Given the description of an element on the screen output the (x, y) to click on. 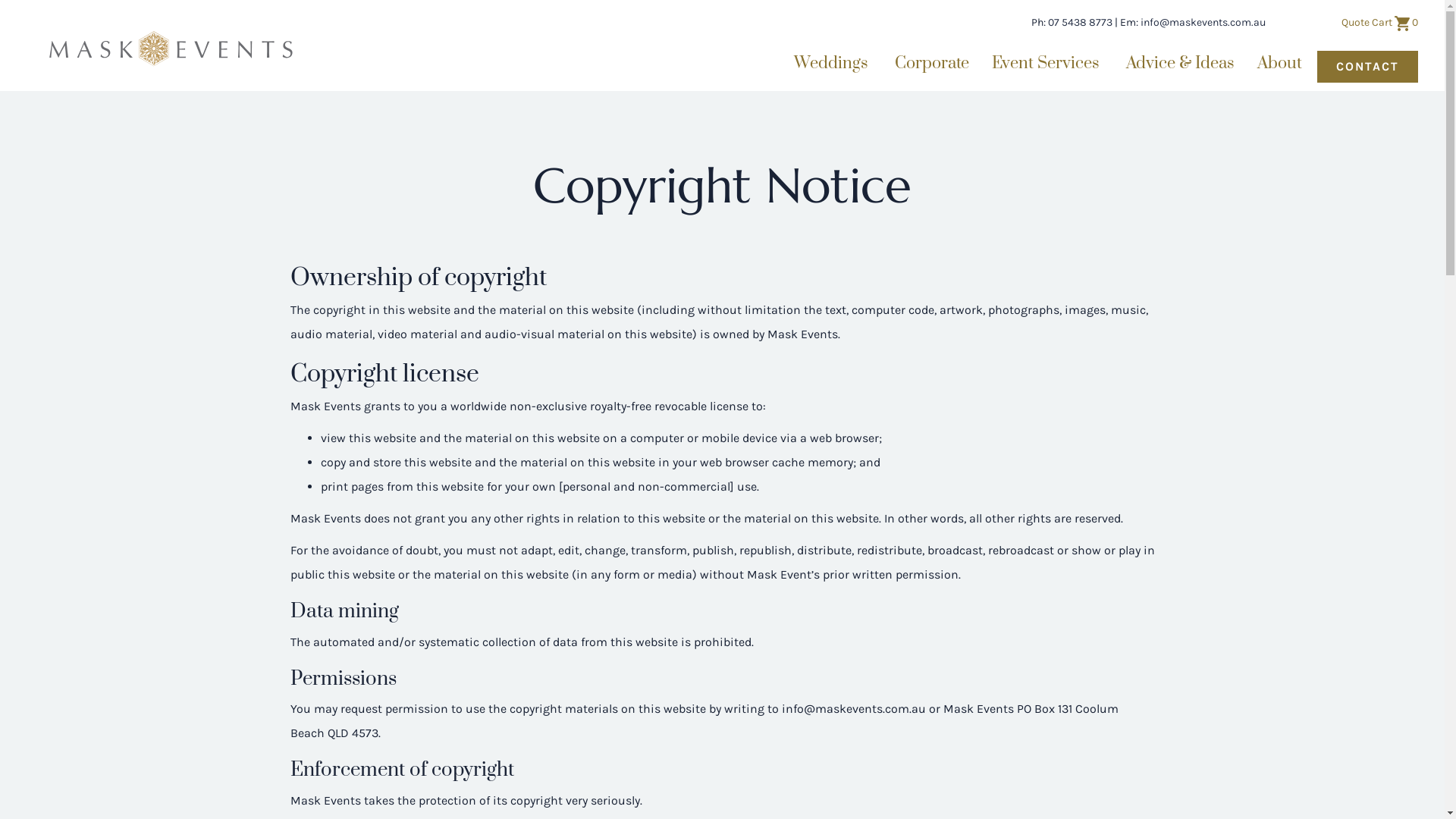
Event Services Element type: text (1047, 63)
Corporate Element type: text (931, 63)
Quote Cart 0 Element type: text (1379, 21)
Weddings Element type: text (832, 63)
CONTACT Element type: text (1367, 66)
07 5438 8773 Element type: text (1080, 21)
About Element type: text (1281, 63)
info@maskevents.com.au Element type: text (1202, 21)
Advice & Ideas Element type: text (1179, 63)
